Given the description of an element on the screen output the (x, y) to click on. 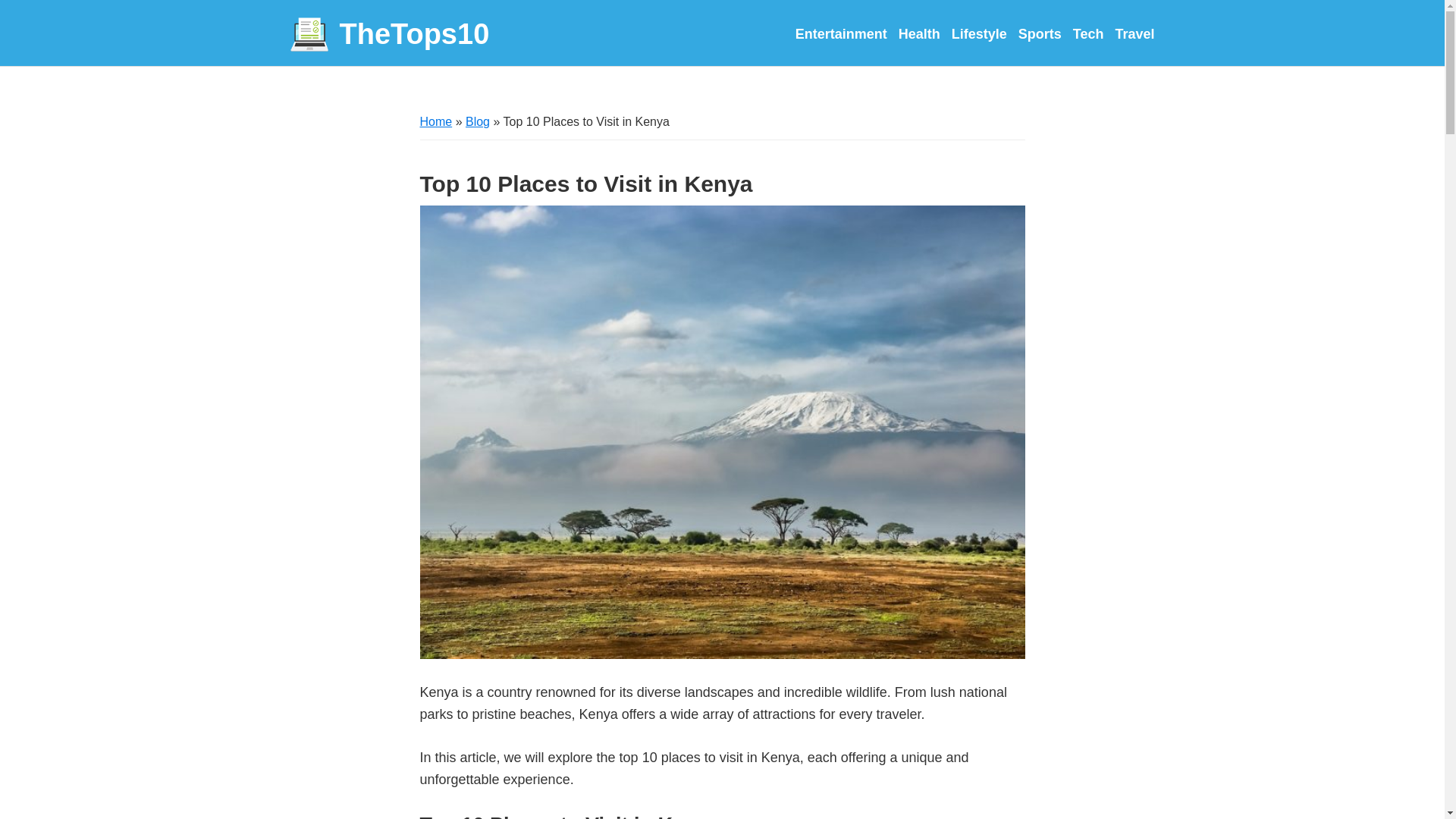
Lifestyle (979, 33)
Sports (1039, 33)
Home (436, 121)
TheTops10 (389, 34)
Entertainment (840, 33)
Blog (477, 121)
Health (919, 33)
Tech (1088, 33)
Travel (1134, 33)
